Given the description of an element on the screen output the (x, y) to click on. 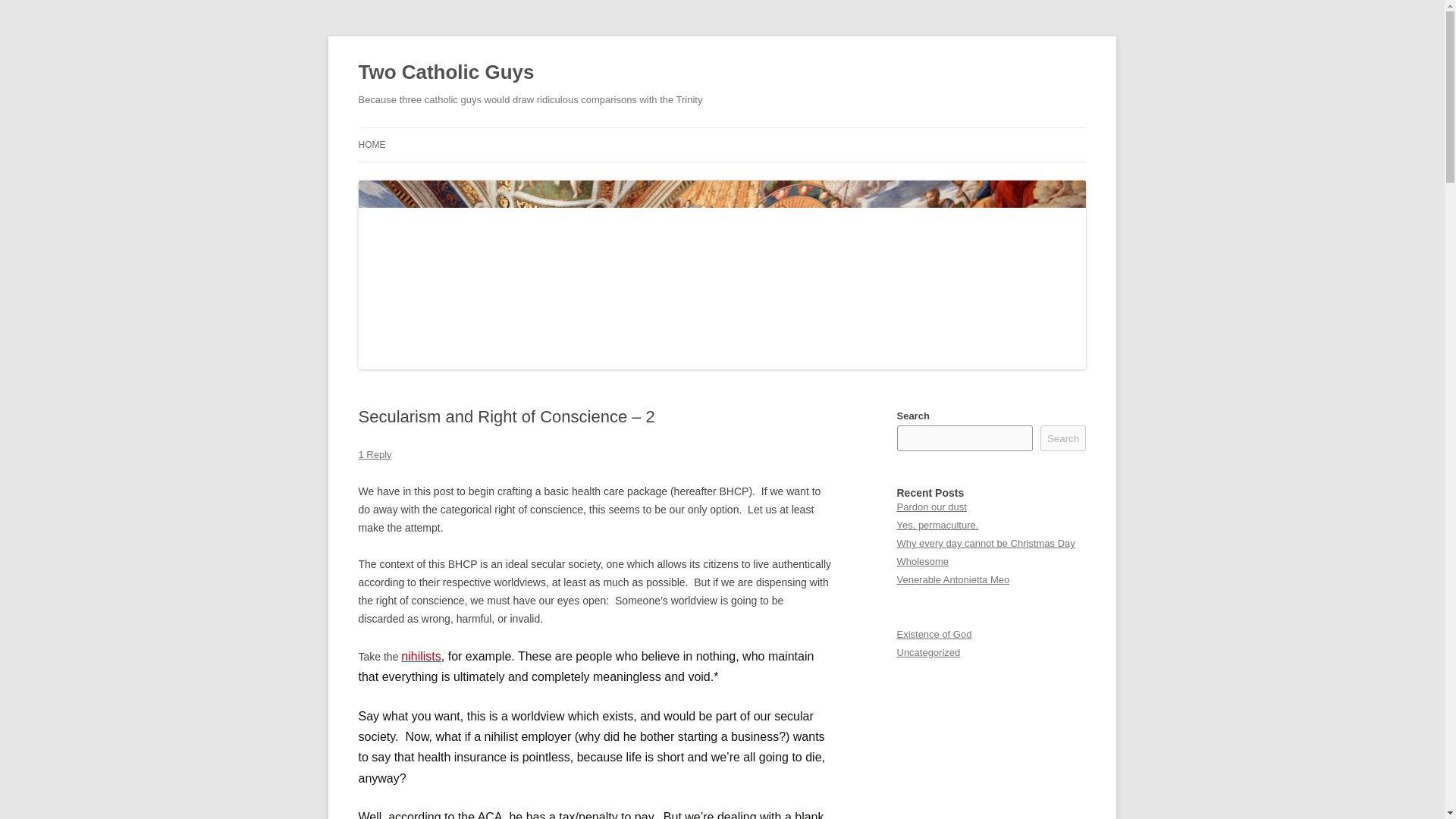
Pardon our dust (931, 506)
Venerable Antonietta Meo (952, 579)
Existence of God (933, 633)
1 Reply (374, 454)
Two Catholic Guys (446, 72)
Why every day cannot be Christmas Day (985, 542)
Search (1063, 438)
Wholesome (922, 561)
nihilists (421, 656)
